Given the description of an element on the screen output the (x, y) to click on. 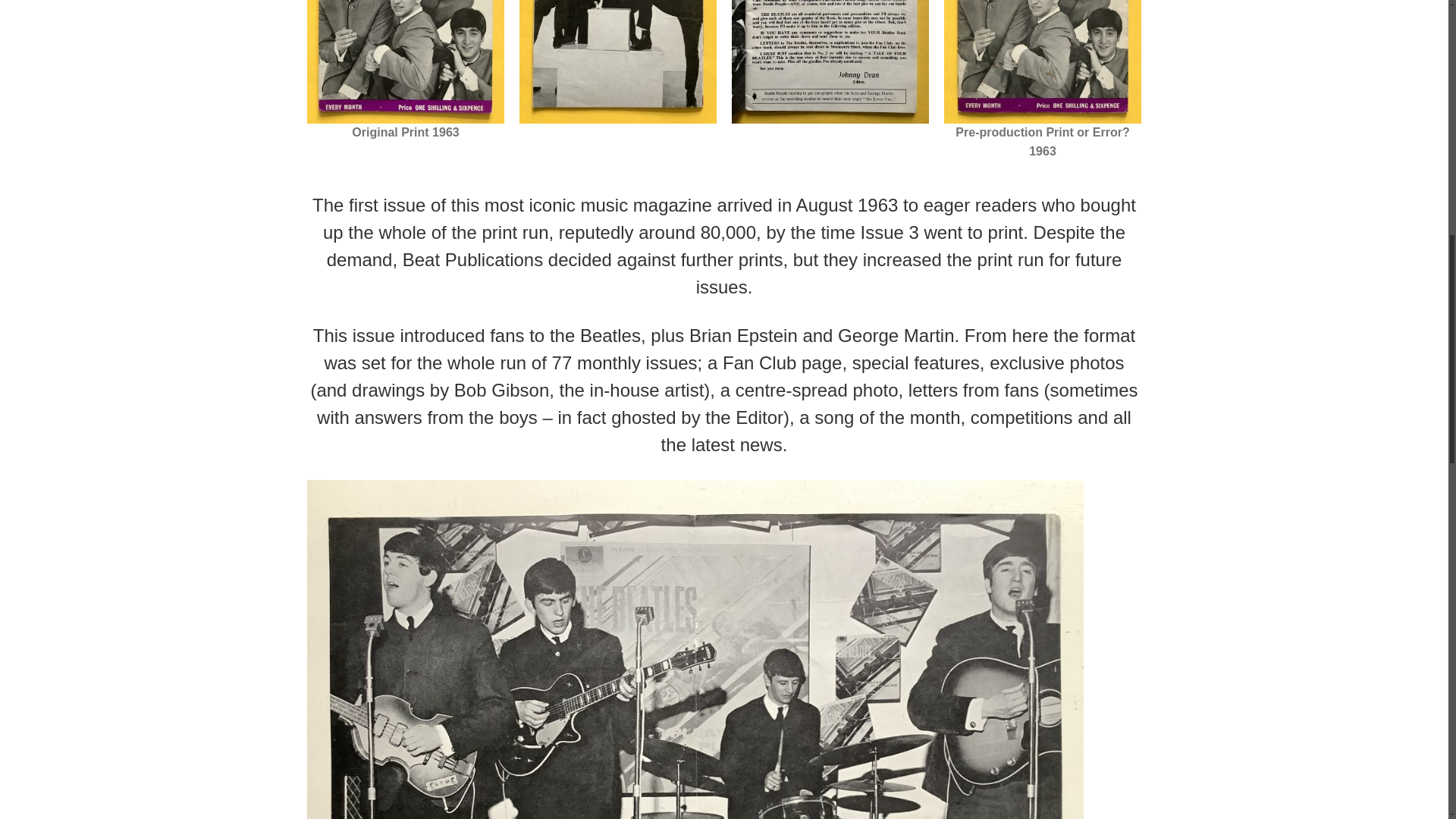
3F06849A-99A3-48AA-B25D-09B5D80DFBA4 (405, 61)
838B4380-19A0-4EEB-8F2D-77BD0C30058F (1042, 61)
284A9E05-6F32-4705-8F67-8FFAED651A04 (617, 61)
9AB74433-DA7A-4E6C-9036-A26C49EF88FB (830, 61)
